Given the description of an element on the screen output the (x, y) to click on. 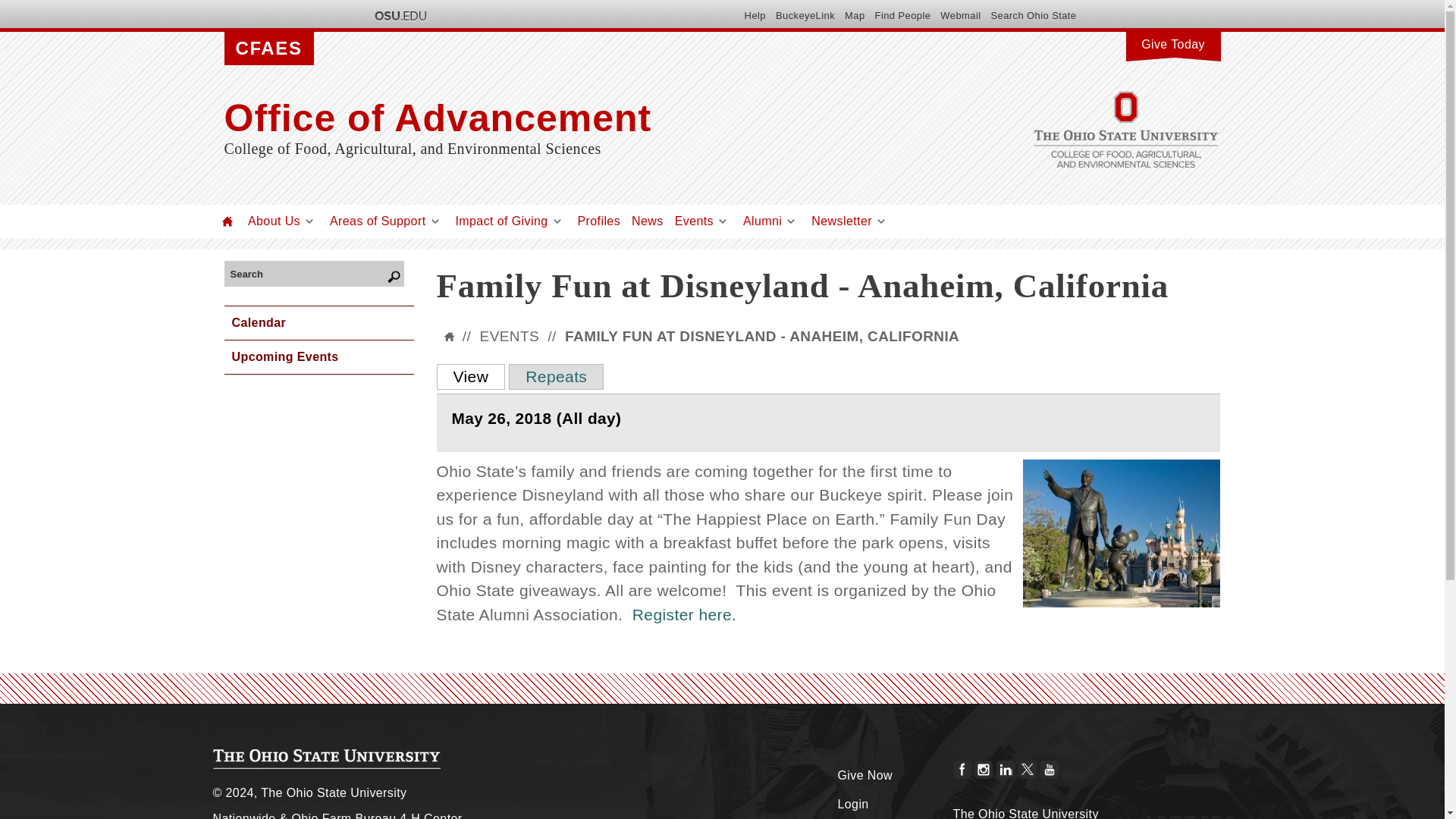
Webmail (959, 15)
Find People (903, 15)
The Ohio State University (399, 15)
Office of Advancement (572, 118)
Home (226, 221)
Alumni (761, 221)
About Us (273, 221)
Search (309, 273)
Search Ohio State (1032, 15)
Profiles (599, 221)
